Given the description of an element on the screen output the (x, y) to click on. 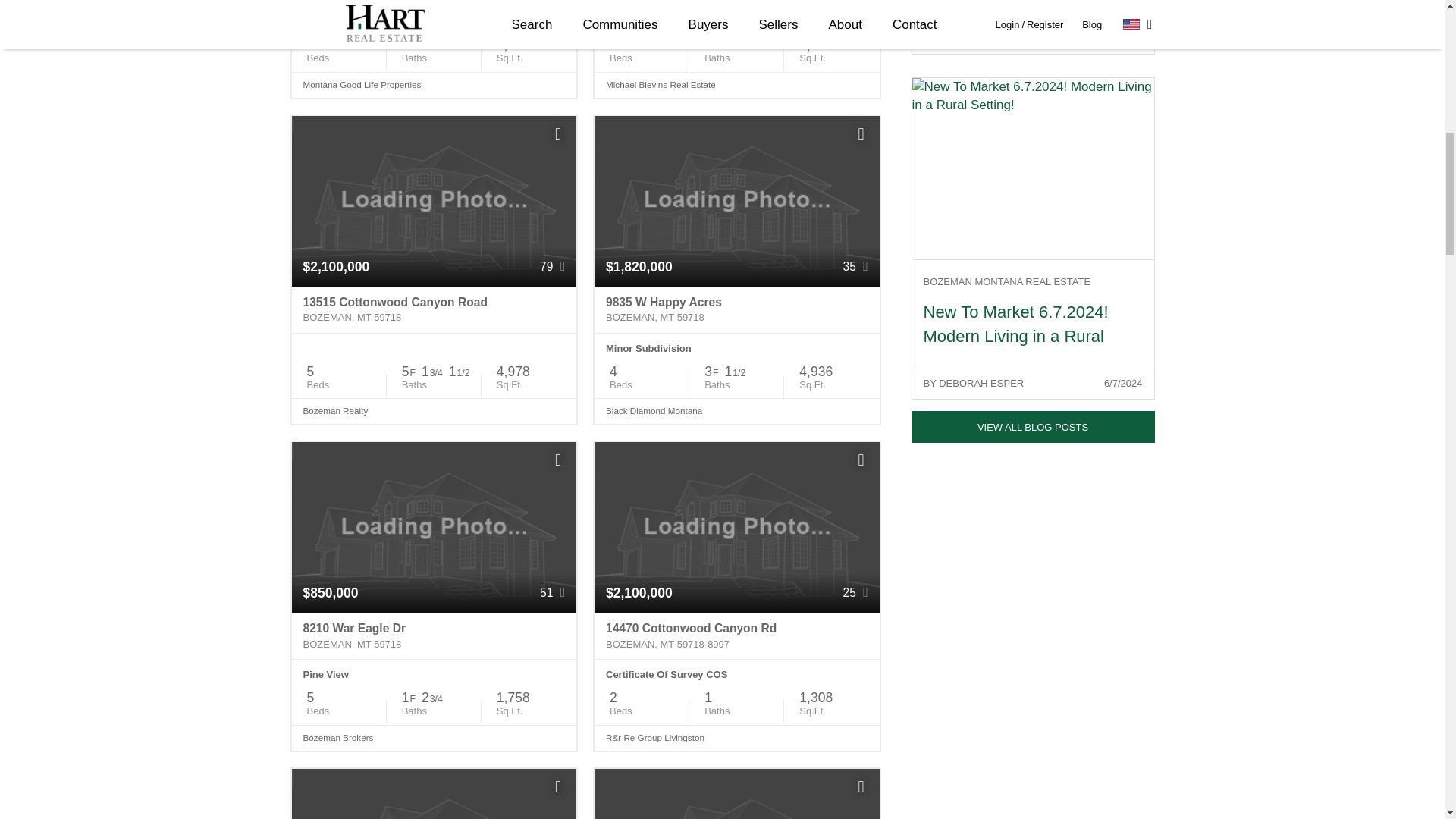
8210 War Eagle Dr Bozeman,  MT 59718 (433, 636)
9835 W Happy Acres Bozeman,  MT 59718 (736, 309)
13011 Cottonwood Canyon Rd Bozeman,  MT 59718 (736, 3)
14470 Cottonwood Canyon Rd Bozeman,  MT 59718-8997 (736, 636)
4452 Kent Spur Rd Bozeman,  MT 59718 (433, 3)
13515 Cottonwood Canyon Road Bozeman,  MT 59718 (433, 309)
